Given the description of an element on the screen output the (x, y) to click on. 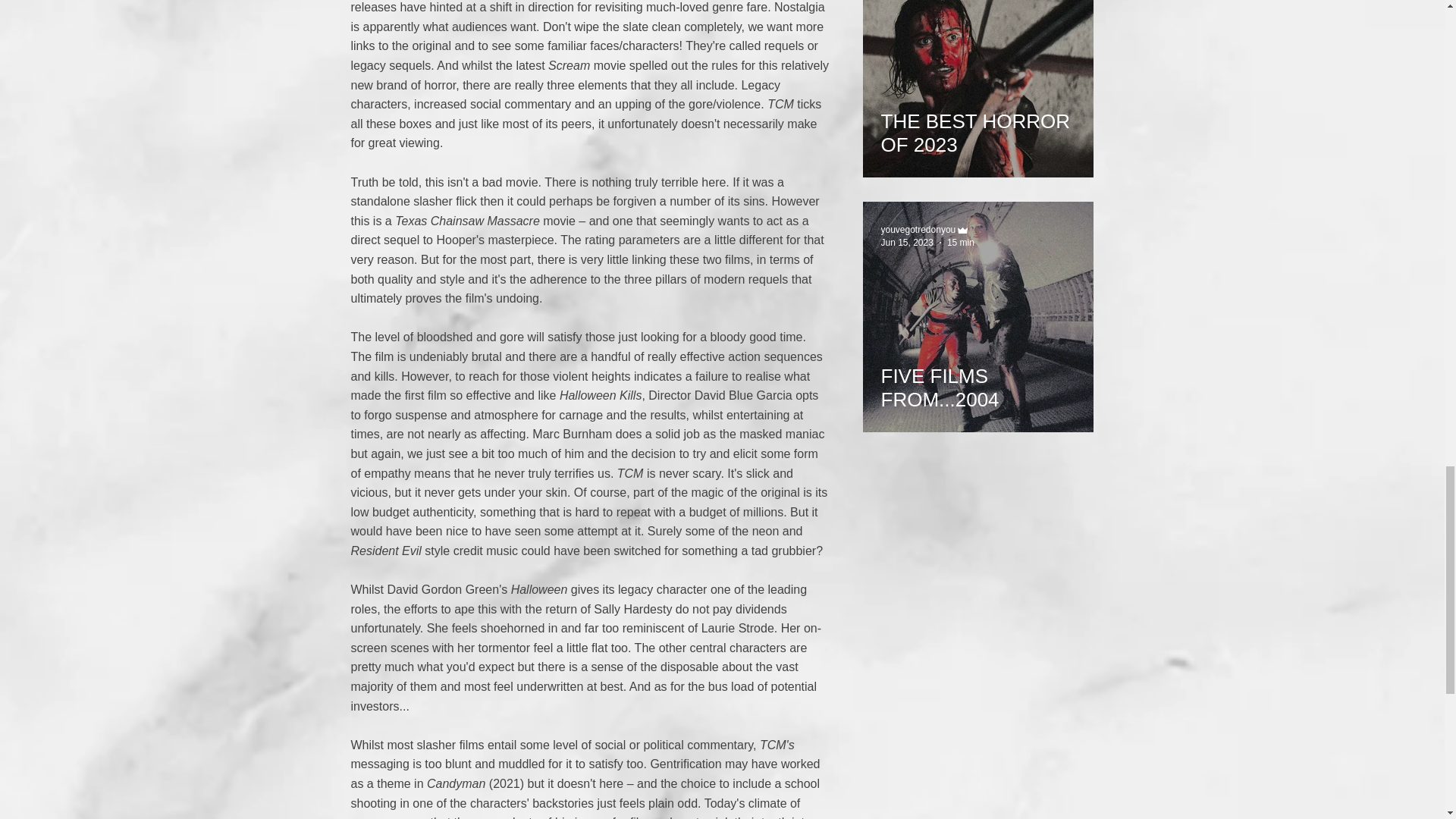
15 min (960, 242)
Jun 15, 2023 (906, 242)
FIVE FILMS FROM...2004 (977, 381)
THE BEST HORROR OF 2023 (977, 126)
youvegotredonyou (918, 229)
